Given the description of an element on the screen output the (x, y) to click on. 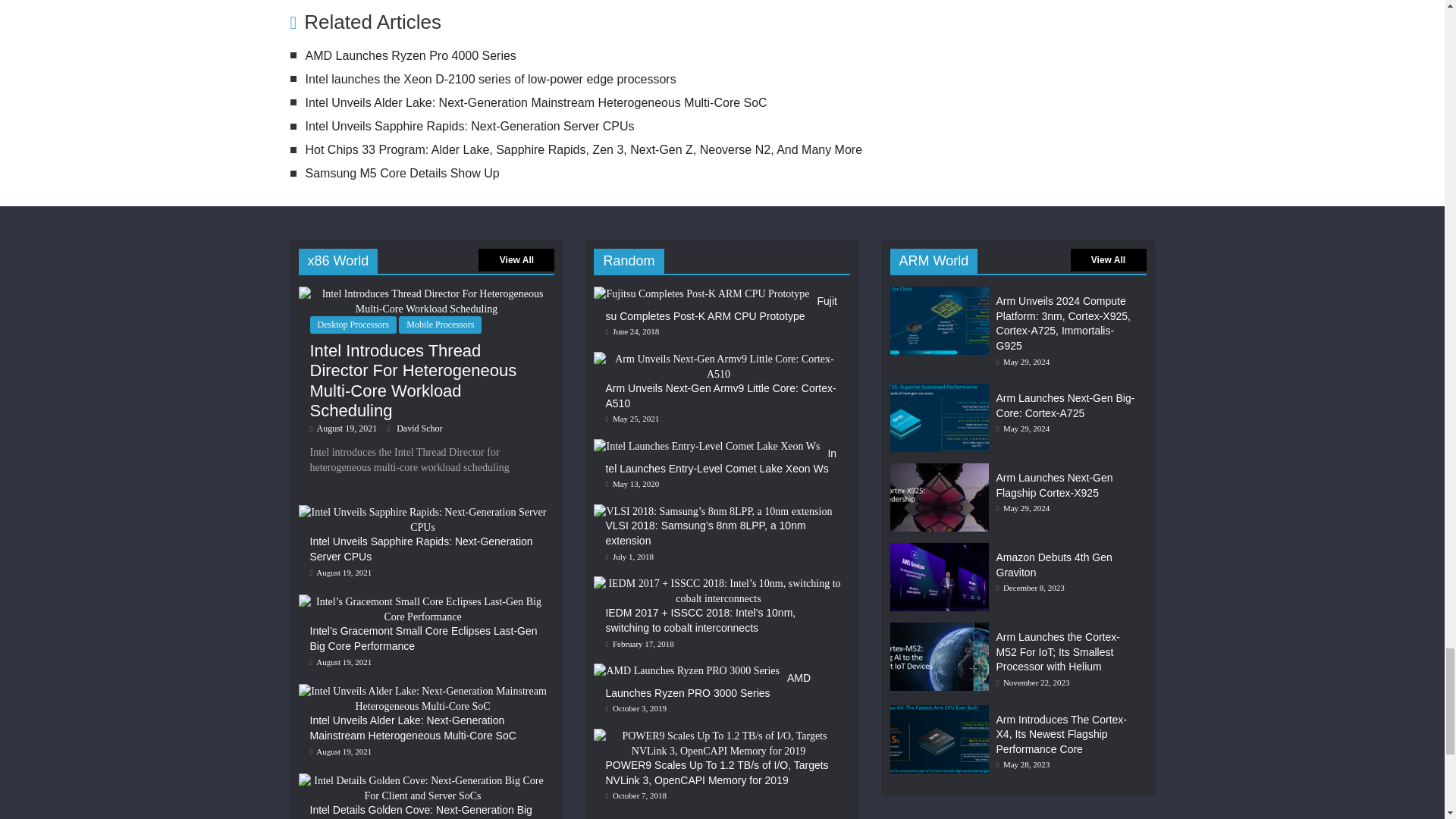
Samsung M5 Core Details Show Up (401, 173)
AMD Launches Ryzen Pro 4000 Series (409, 55)
Intel Unveils Sapphire Rapids: Next-Generation Server CPUs (468, 125)
